Given the description of an element on the screen output the (x, y) to click on. 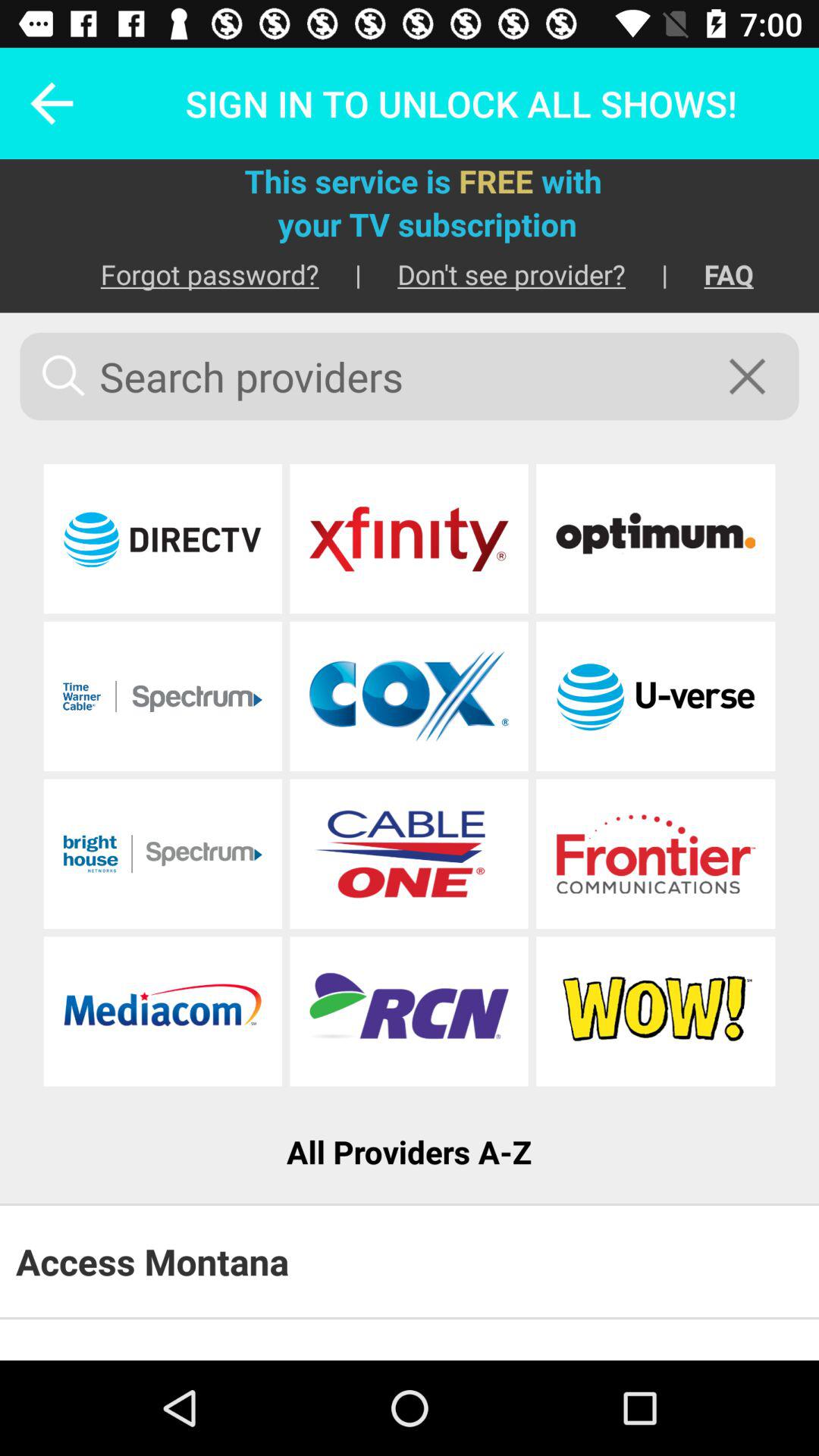
choose this provider (655, 1011)
